Given the description of an element on the screen output the (x, y) to click on. 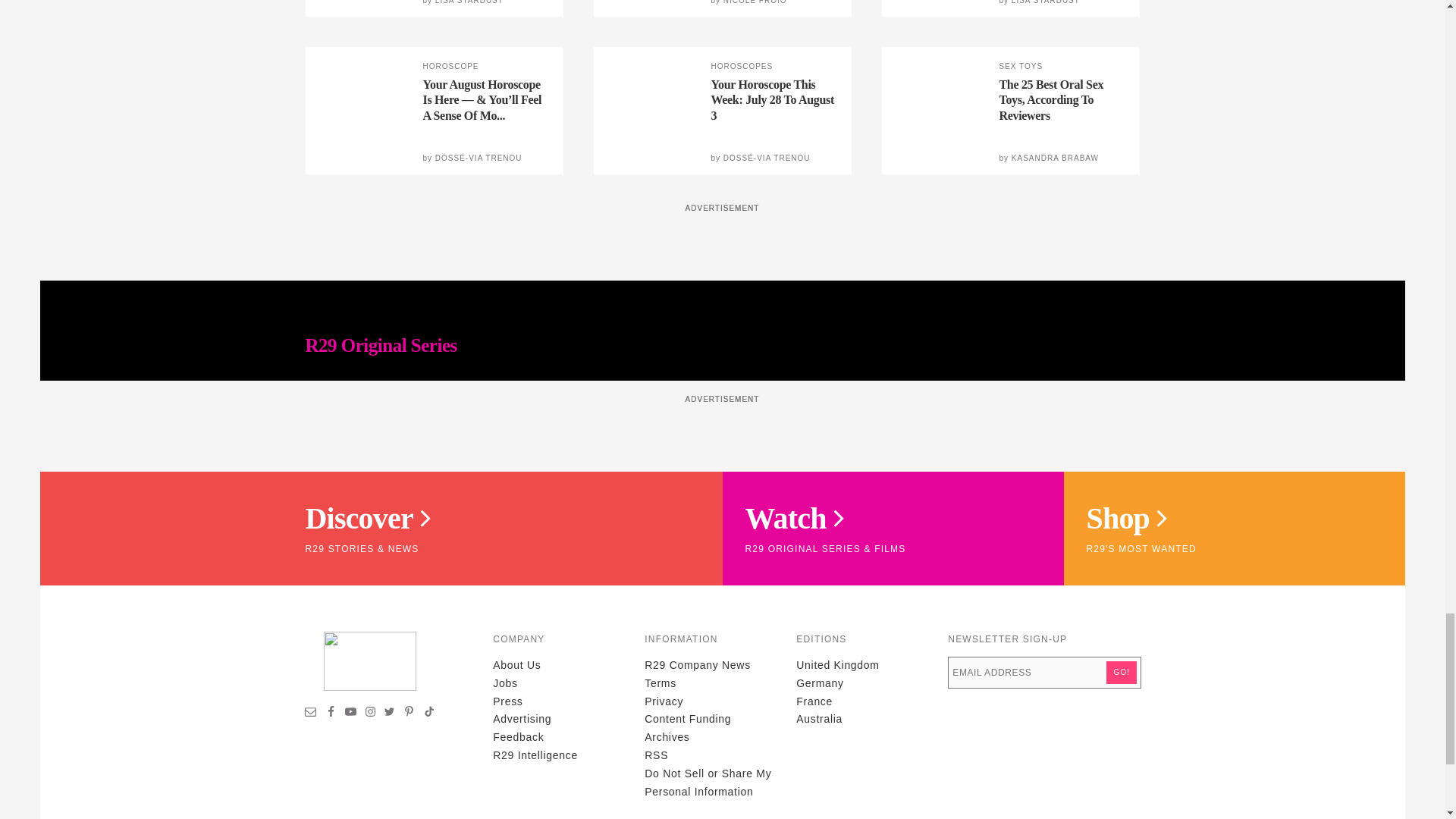
Visit Refinery29 on TikTok (428, 713)
Sign up for newsletters (310, 713)
Visit Refinery29 on YouTube (350, 713)
